Given the description of an element on the screen output the (x, y) to click on. 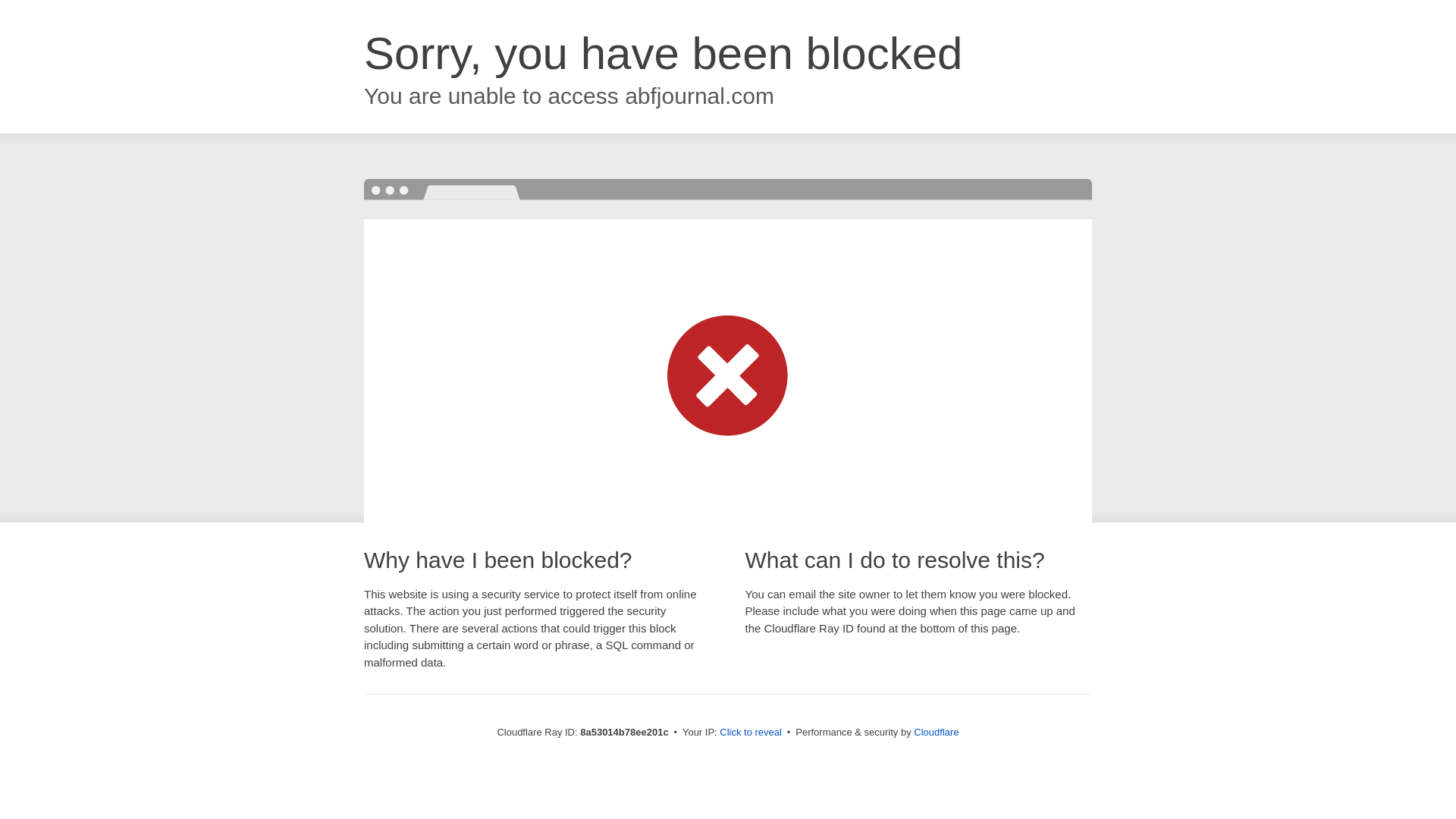
Click to reveal (750, 732)
Cloudflare (936, 731)
